Given the description of an element on the screen output the (x, y) to click on. 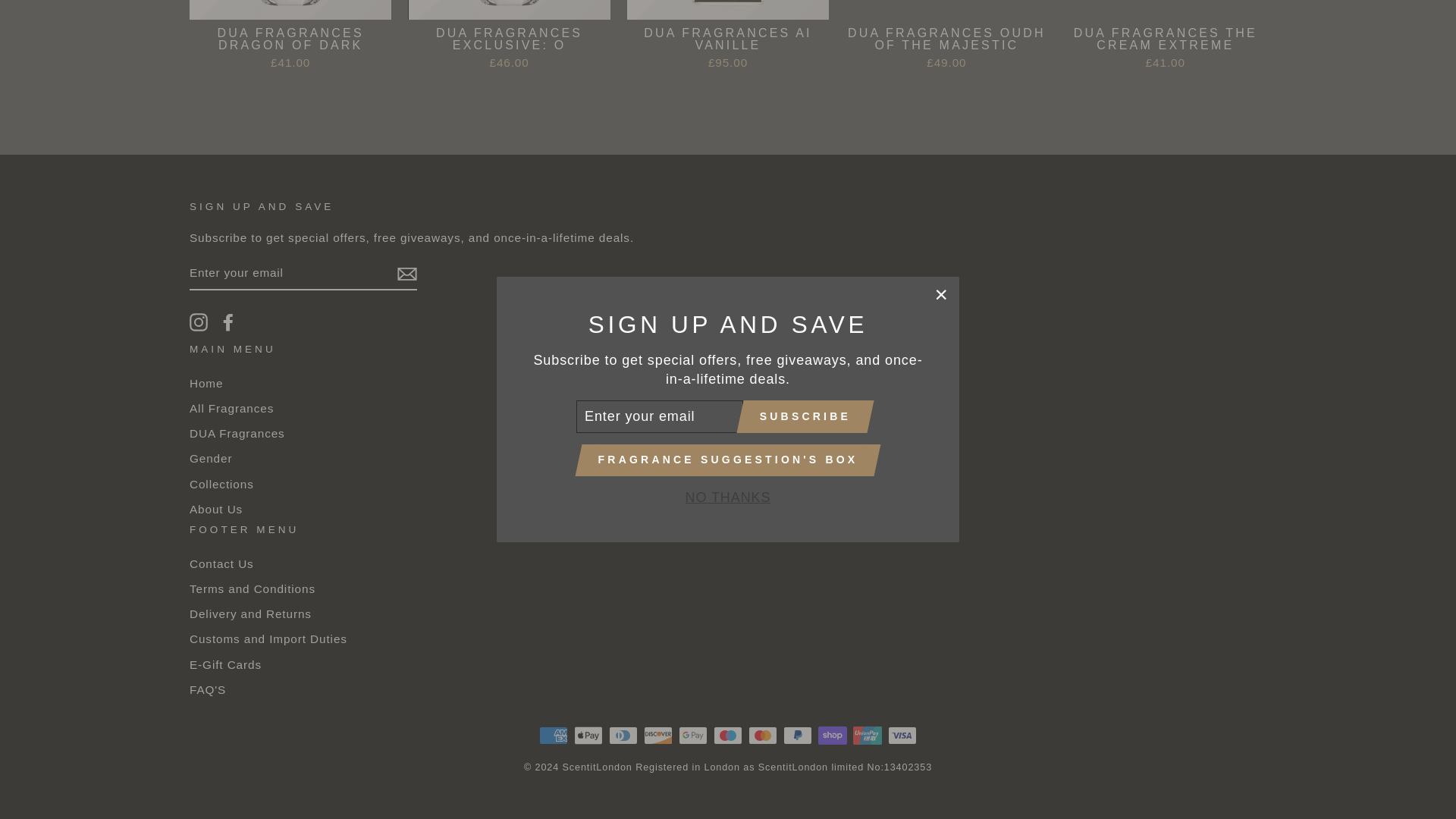
Mastercard (762, 735)
PayPal (797, 735)
Google Pay (692, 735)
American Express (552, 735)
Maestro (727, 735)
Diners Club (622, 735)
Union Pay (867, 735)
Discover (657, 735)
Shop Pay (832, 735)
Visa (902, 735)
Apple Pay (587, 735)
